Given the description of an element on the screen output the (x, y) to click on. 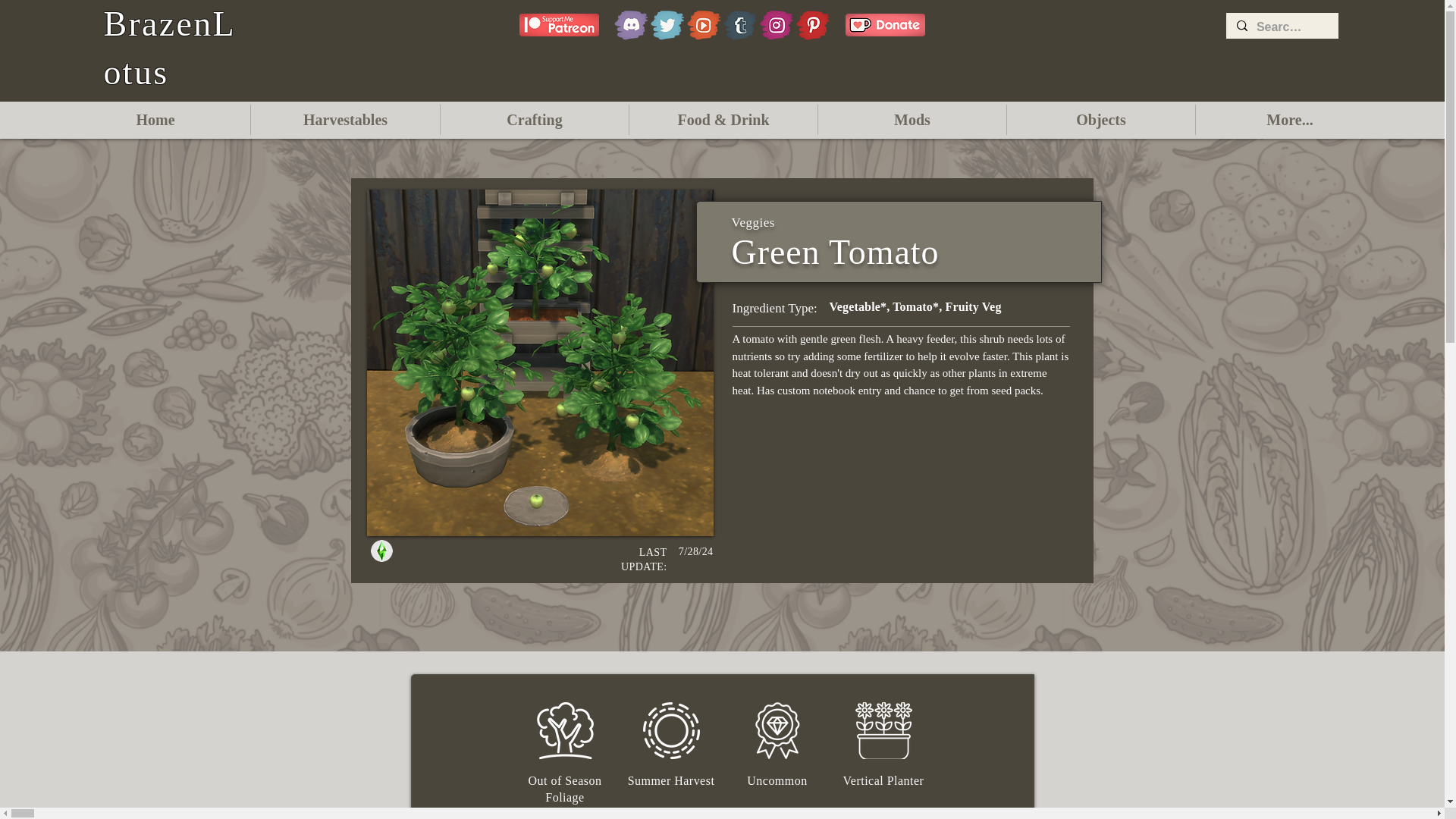
Summer Harvest (671, 730)
Objects (1101, 119)
BG - Base Game (380, 550)
Home (155, 119)
Out of Season Foliage (565, 730)
Vertical Planter (884, 730)
BrazenLotus (168, 47)
Mods (912, 119)
Crafting (534, 119)
Harvestables (344, 119)
